Given the description of an element on the screen output the (x, y) to click on. 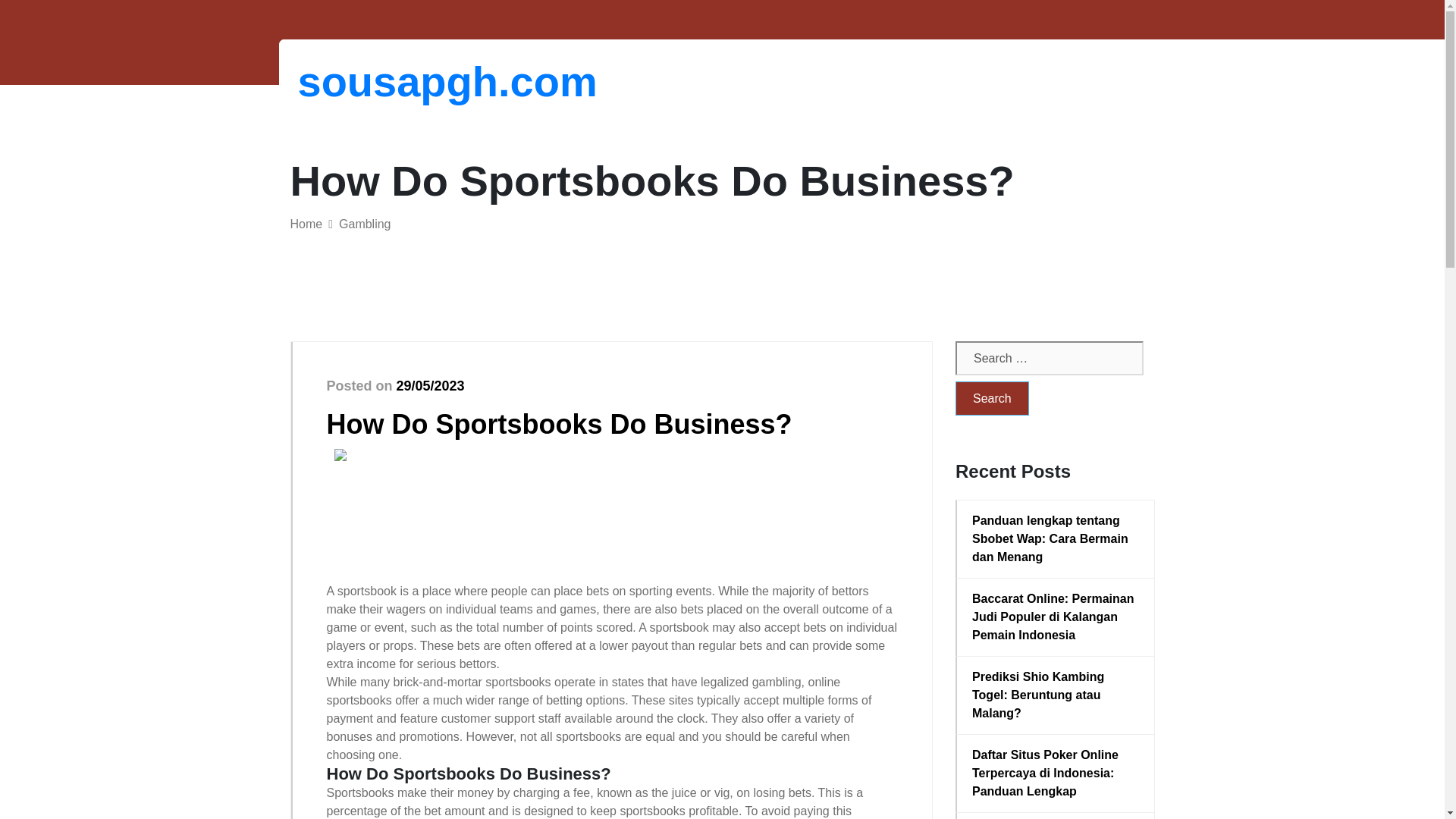
sousapgh.com (376, 81)
Gambling (364, 223)
Search (992, 398)
Home (305, 223)
Panduan lengkap tentang Sbobet Wap: Cara Bermain dan Menang (1055, 538)
Search (992, 398)
Prediksi Shio Kambing Togel: Beruntung atau Malang? (1055, 695)
Search (992, 398)
